Given the description of an element on the screen output the (x, y) to click on. 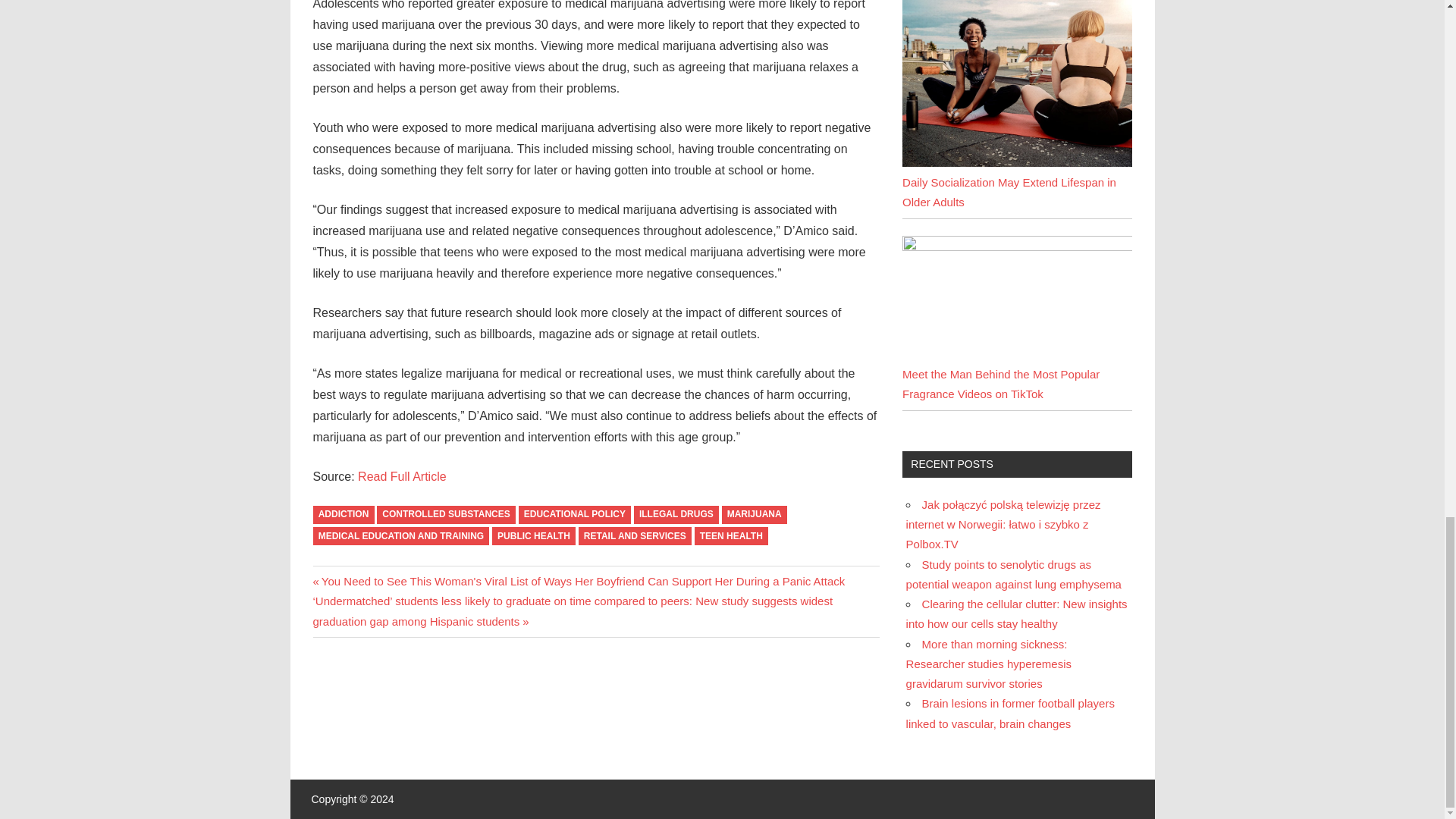
RETAIL AND SERVICES (634, 536)
CONTROLLED SUBSTANCES (446, 515)
MEDICAL EDUCATION AND TRAINING (401, 536)
Daily Socialization May Extend Lifespan in Older Adults (1016, 162)
Read Full Article (402, 476)
MARIJUANA (754, 515)
ILLEGAL DRUGS (676, 515)
PUBLIC HEALTH (533, 536)
ADDICTION (343, 515)
Daily Socialization May Extend Lifespan in Older Adults (1009, 192)
